Given the description of an element on the screen output the (x, y) to click on. 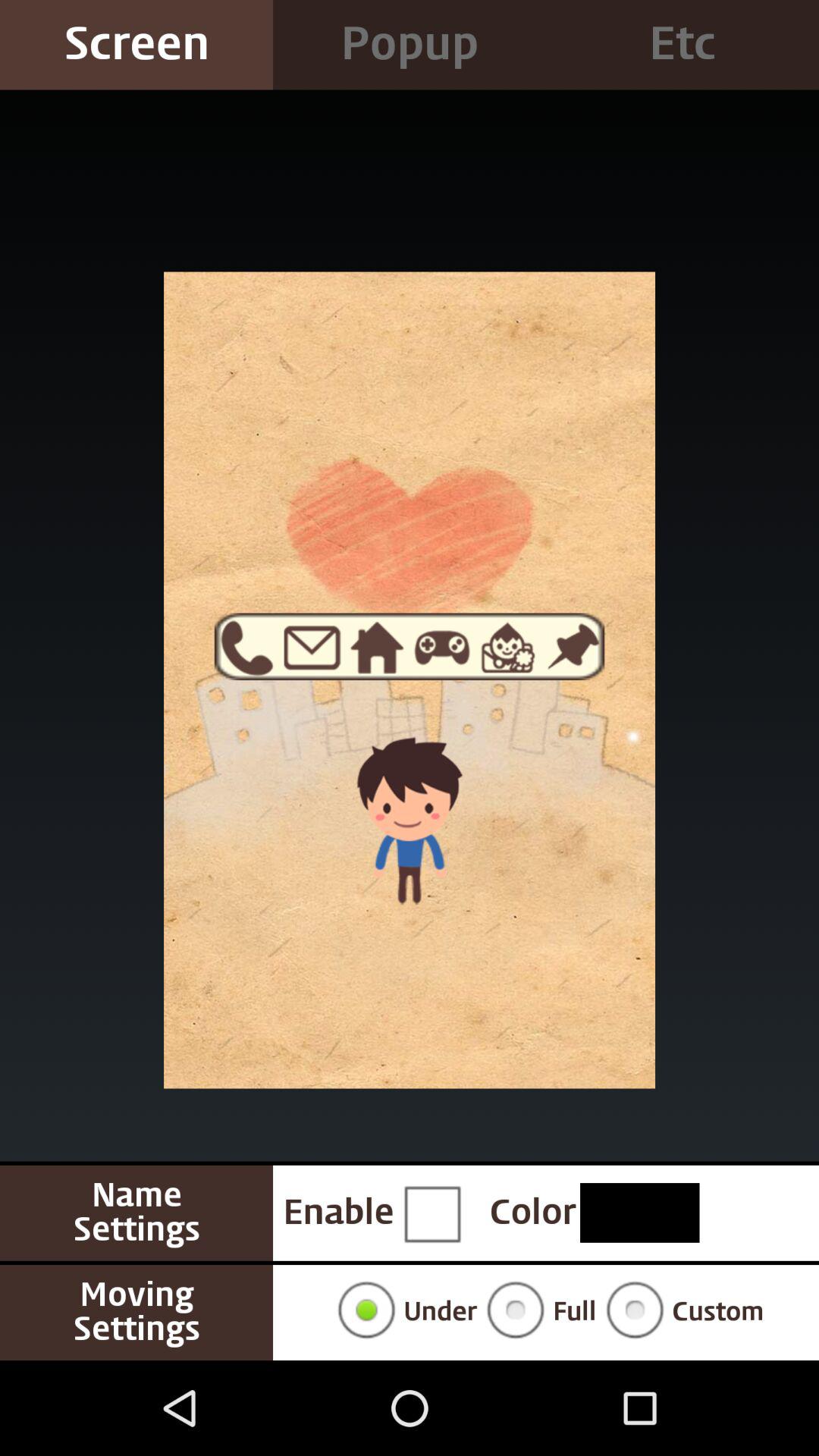
choose color (639, 1212)
